Given the description of an element on the screen output the (x, y) to click on. 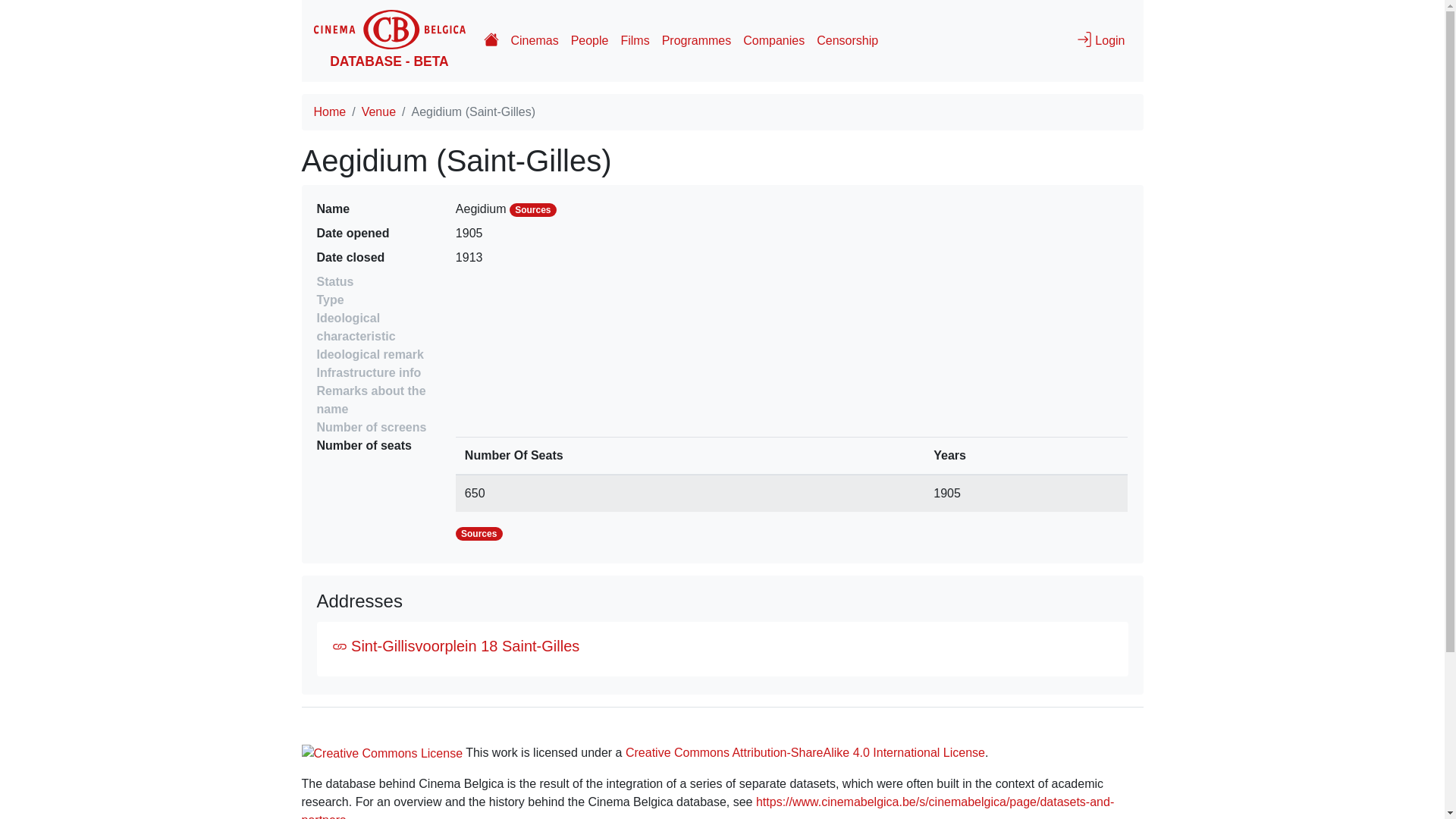
Login Element type: text (1100, 40)
Companies Element type: text (773, 40)
Sint-Gillisvoorplein 18 Saint-Gilles Element type: text (456, 645)
DATABASE - BETA Element type: text (389, 40)
Cinemas Element type: text (534, 40)
Censorship Element type: text (847, 40)
Programmes Element type: text (696, 40)
Home Element type: text (329, 111)
Venue Element type: text (378, 111)
Films Element type: text (634, 40)
People Element type: text (589, 40)
